Given the description of an element on the screen output the (x, y) to click on. 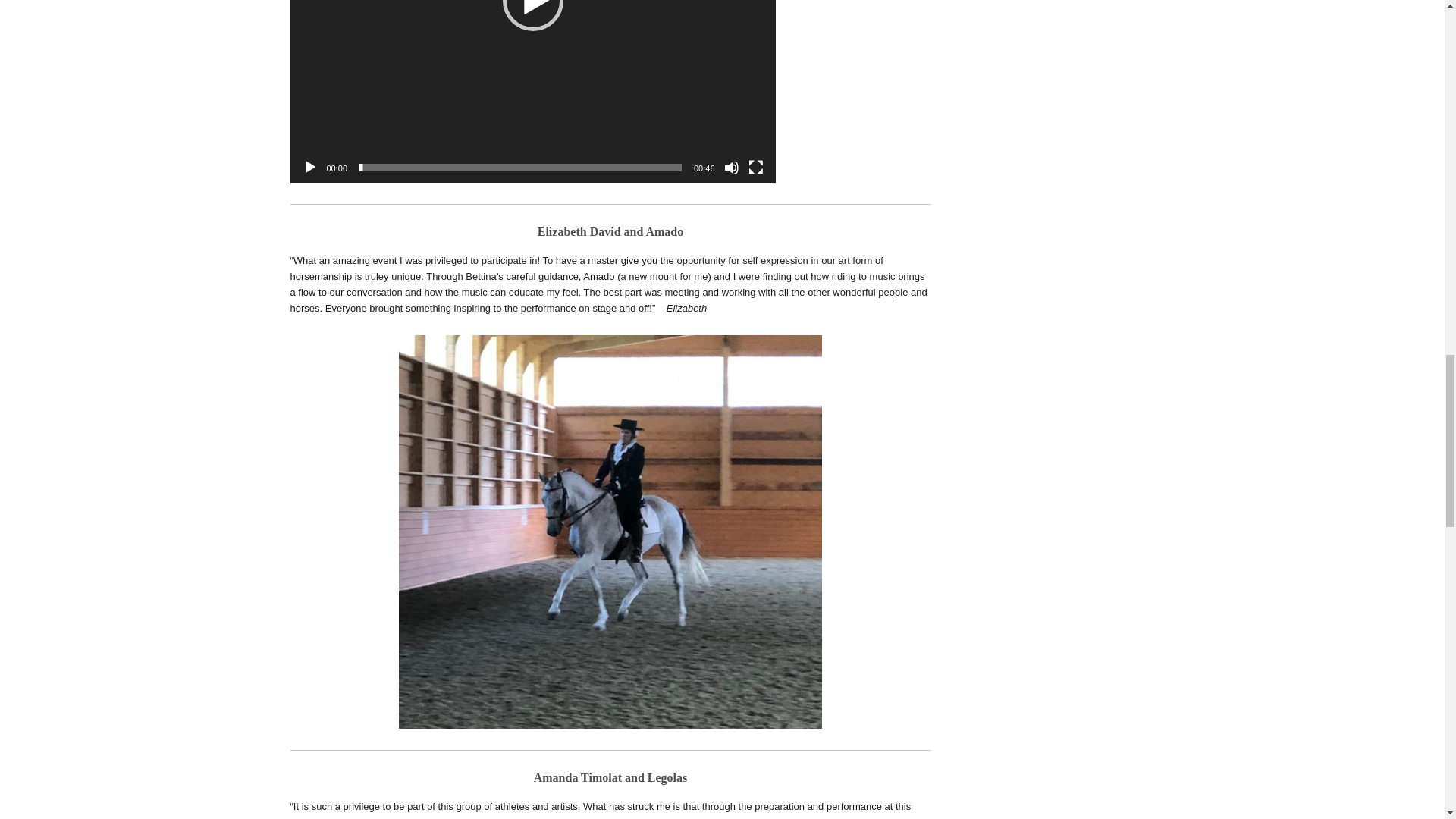
Mute (730, 167)
Play (309, 167)
Fullscreen (755, 167)
